Given the description of an element on the screen output the (x, y) to click on. 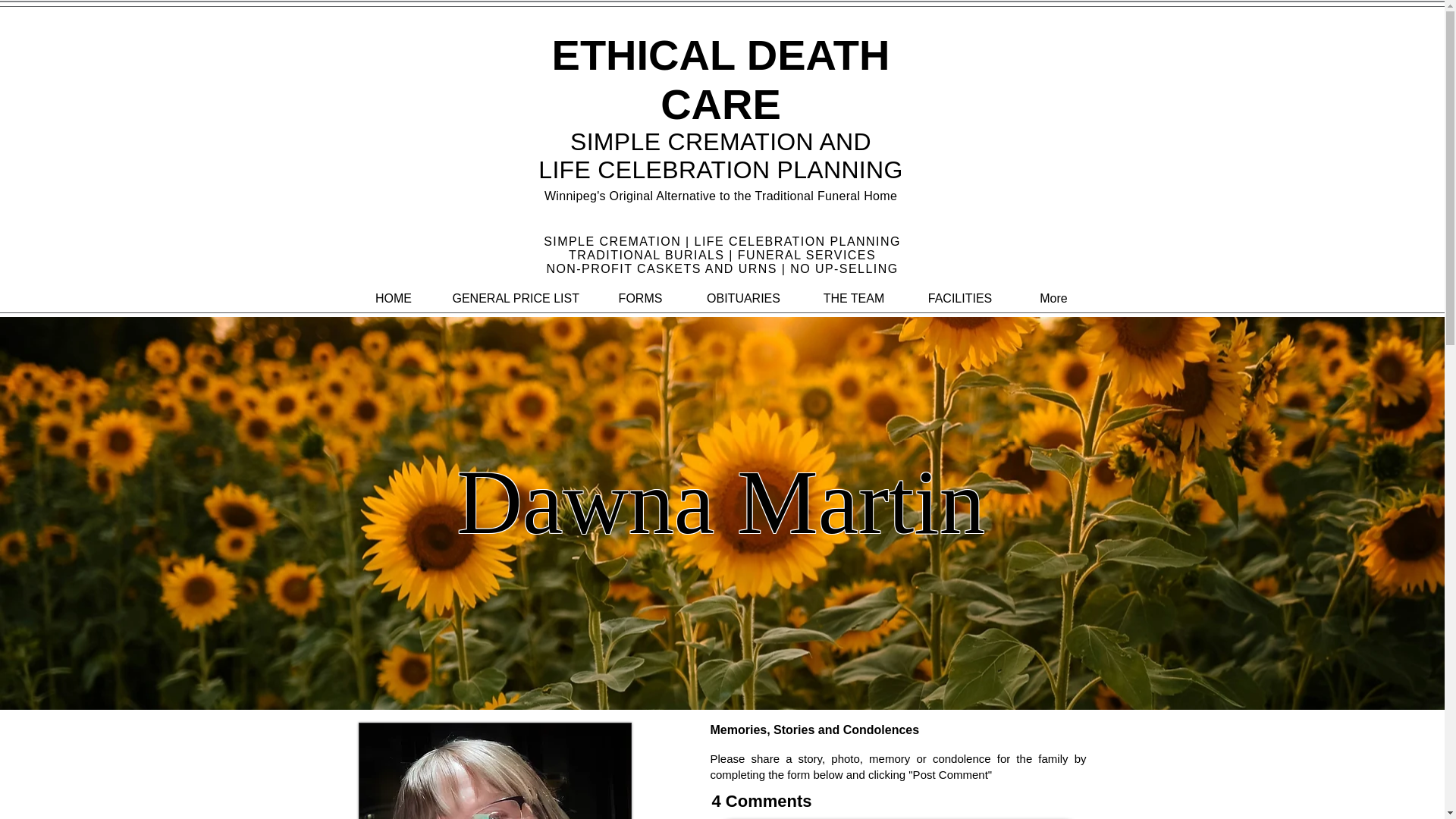
HOME (392, 298)
OBITUARIES (742, 298)
THE TEAM (852, 298)
